Given the description of an element on the screen output the (x, y) to click on. 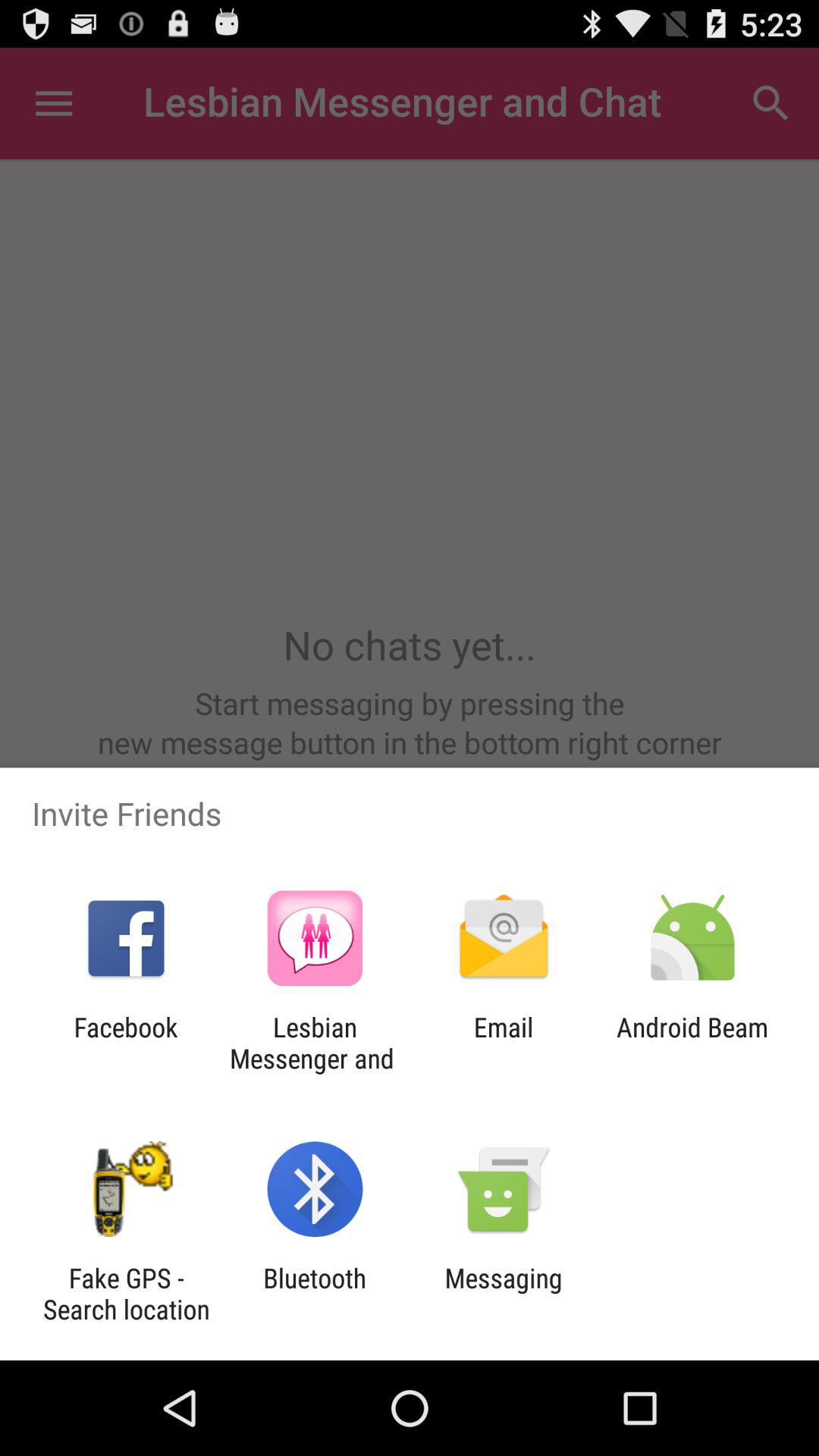
click the item to the left of the bluetooth item (125, 1293)
